Given the description of an element on the screen output the (x, y) to click on. 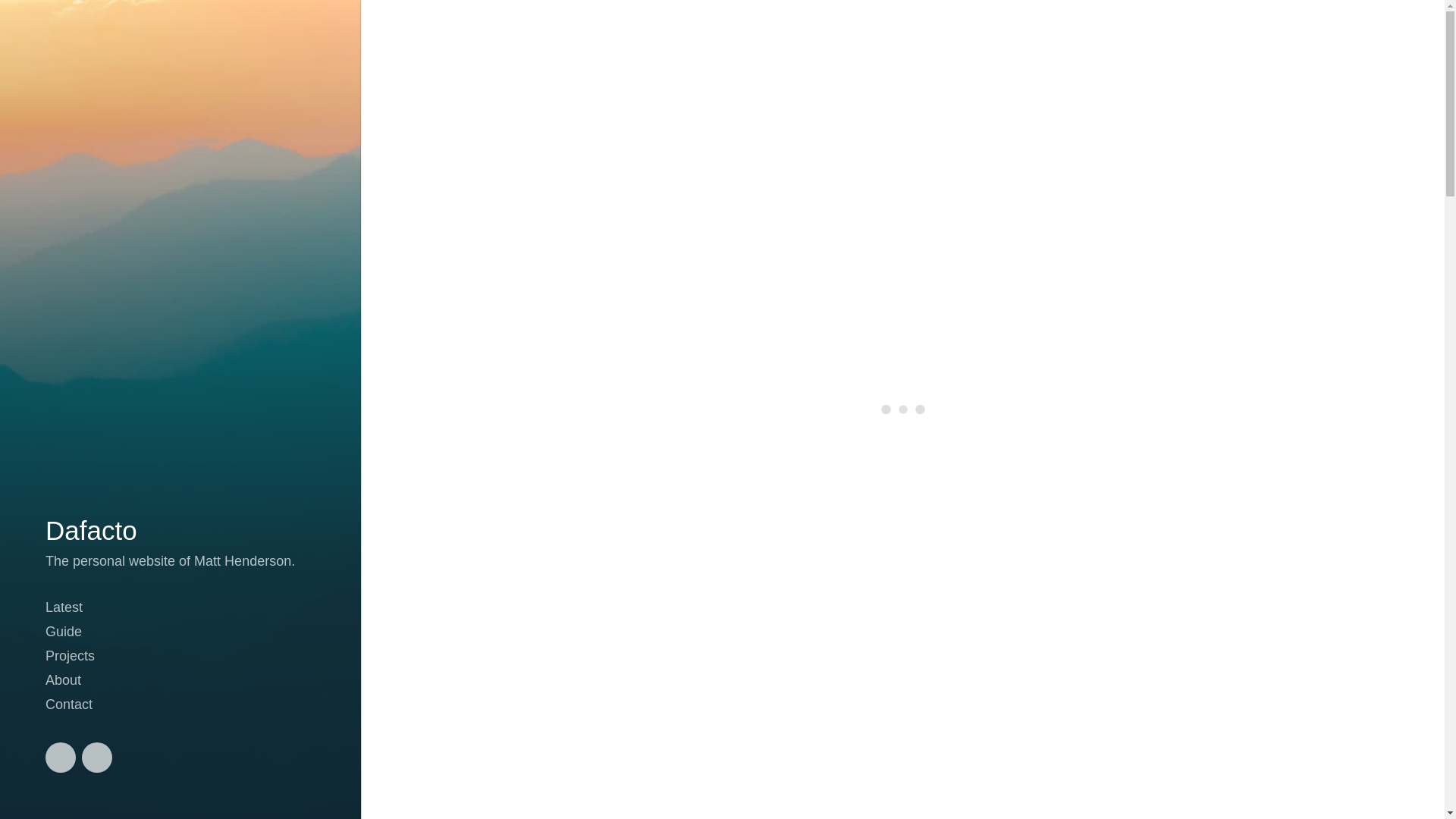
Dafacto (90, 530)
Latest (63, 607)
Projects (69, 655)
Guide (63, 631)
Twitter (60, 757)
Contact (69, 703)
About (63, 679)
Linkedin (96, 757)
